Given the description of an element on the screen output the (x, y) to click on. 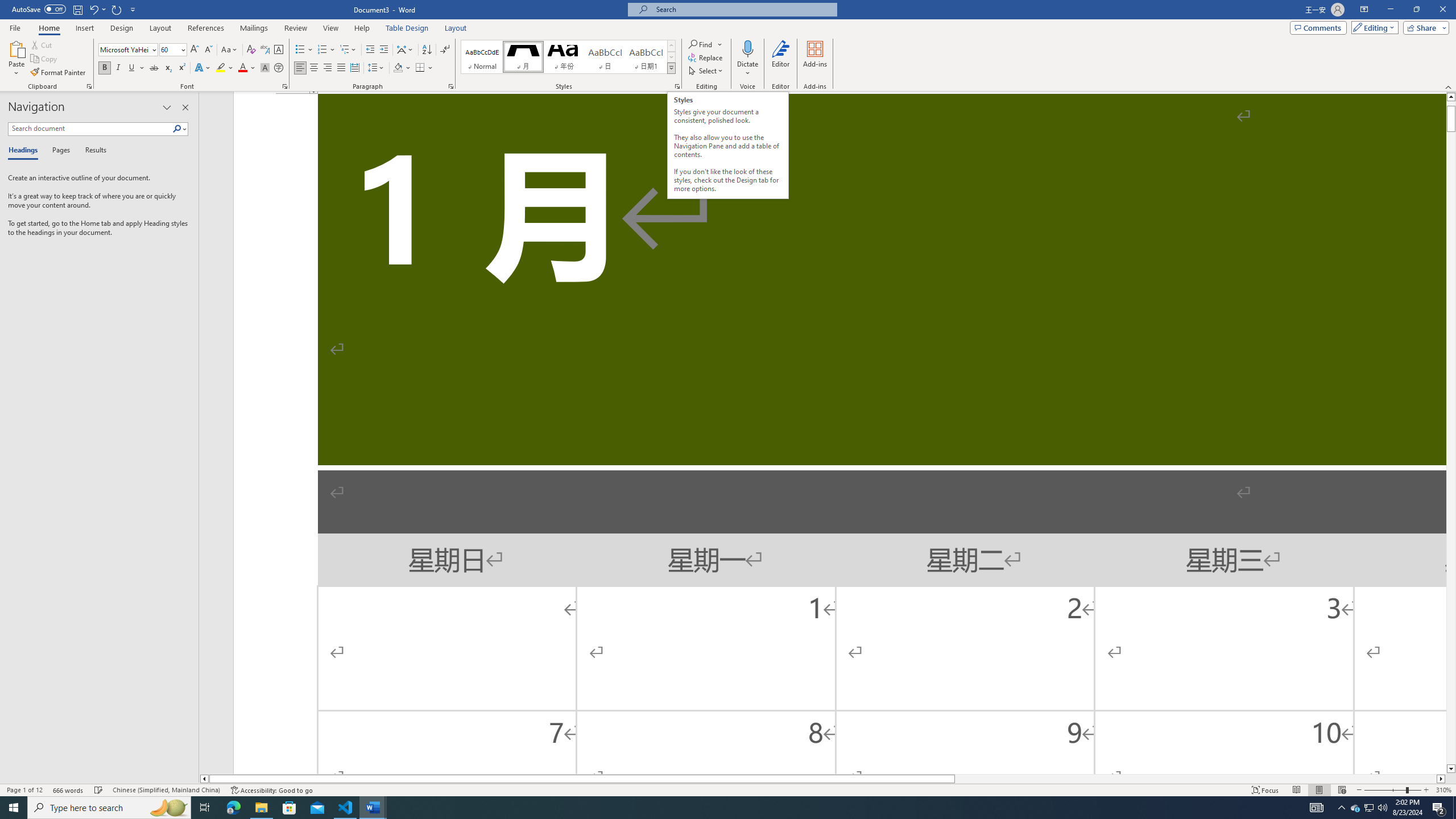
Styles... (676, 85)
System (6, 6)
Numbering (326, 49)
Review (295, 28)
Shrink Font (208, 49)
Class: NetUIScrollBar (822, 778)
Subscript (167, 67)
Font (124, 49)
Word Count 666 words (68, 790)
Shading (402, 67)
Customize Quick Access Toolbar (133, 9)
Design (122, 28)
Class: NetUIImage (671, 68)
Sort... (426, 49)
File Tab (15, 27)
